Given the description of an element on the screen output the (x, y) to click on. 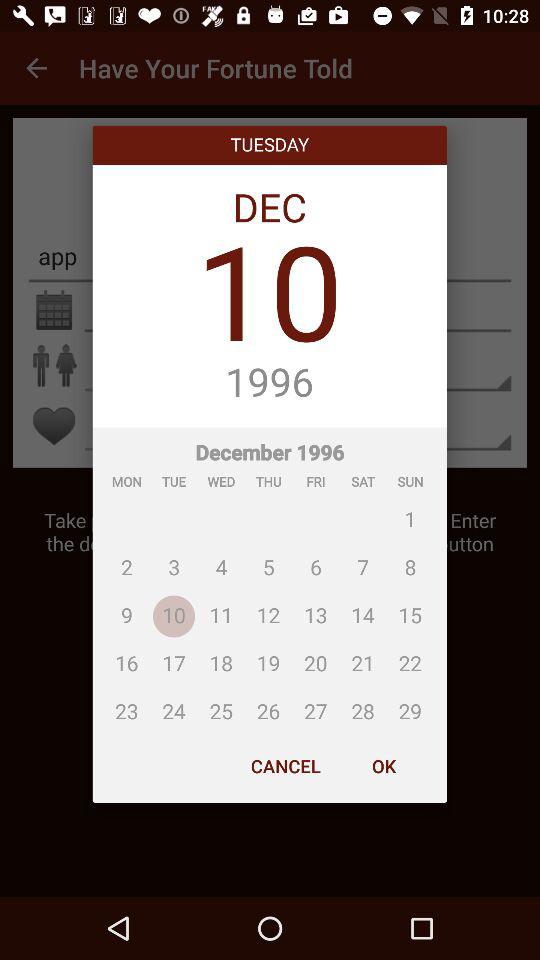
choose the icon to the left of ok item (285, 765)
